Given the description of an element on the screen output the (x, y) to click on. 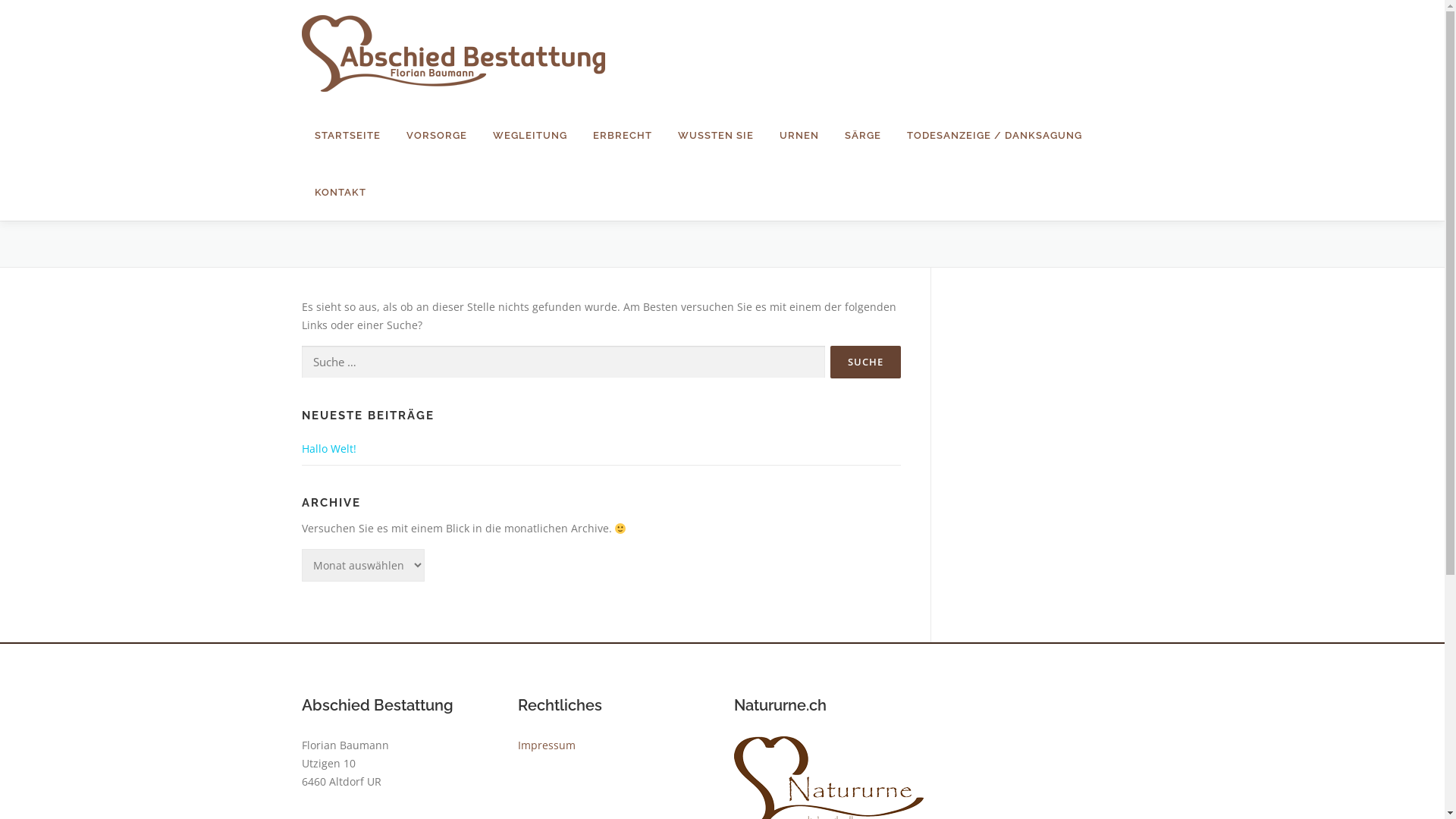
Suche Element type: text (864, 361)
TODESANZEIGE / DANKSAGUNG Element type: text (993, 134)
URNEN Element type: text (798, 134)
WUSSTEN SIE Element type: text (714, 134)
ERBRECHT Element type: text (621, 134)
VORSORGE Element type: text (435, 134)
WEGLEITUNG Element type: text (529, 134)
STARTSEITE Element type: text (347, 134)
Impressum Element type: text (545, 744)
KONTAKT Element type: text (333, 191)
Hallo Welt! Element type: text (328, 448)
